Given the description of an element on the screen output the (x, y) to click on. 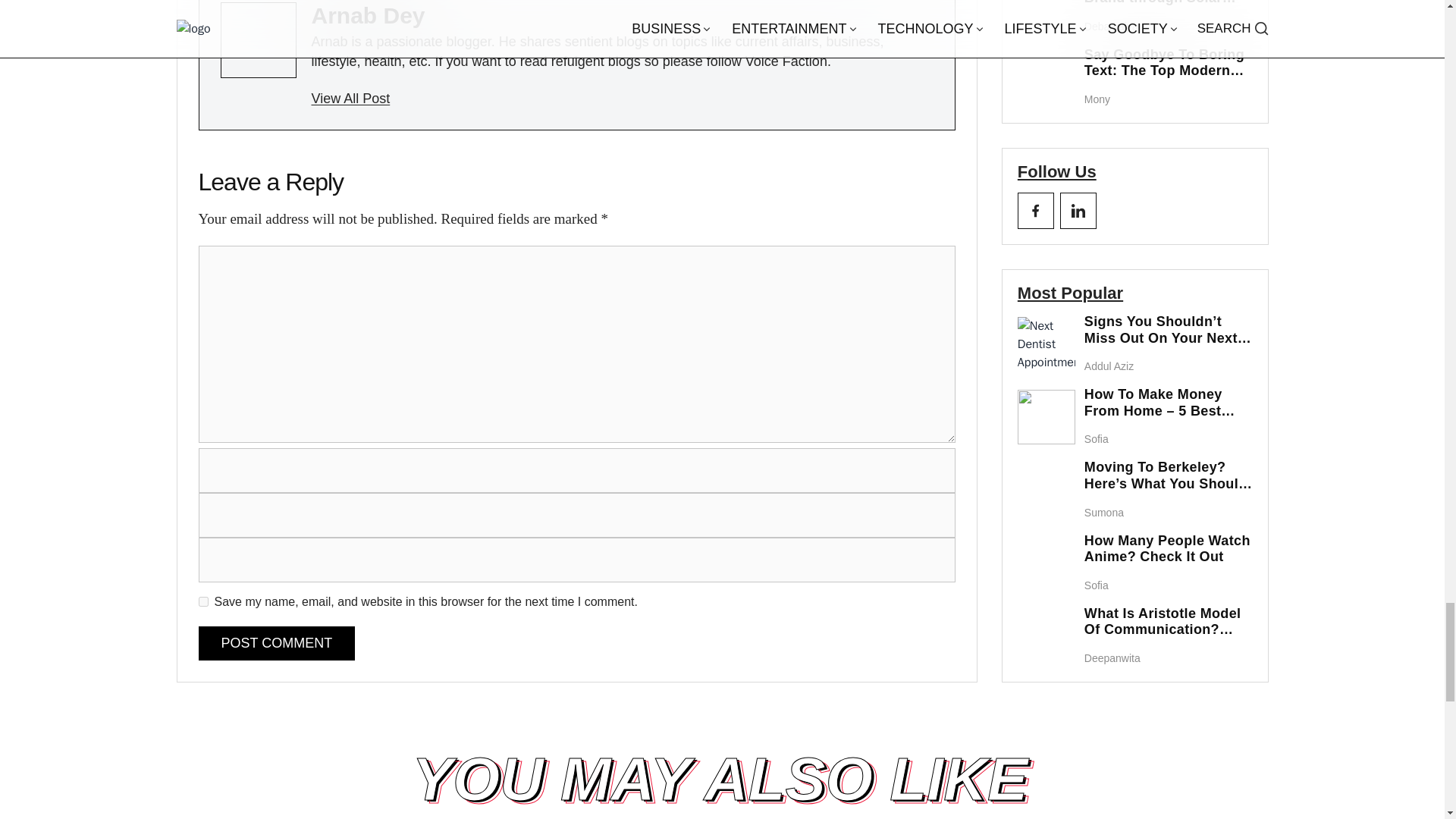
Post Comment (276, 643)
yes (203, 601)
